Given the description of an element on the screen output the (x, y) to click on. 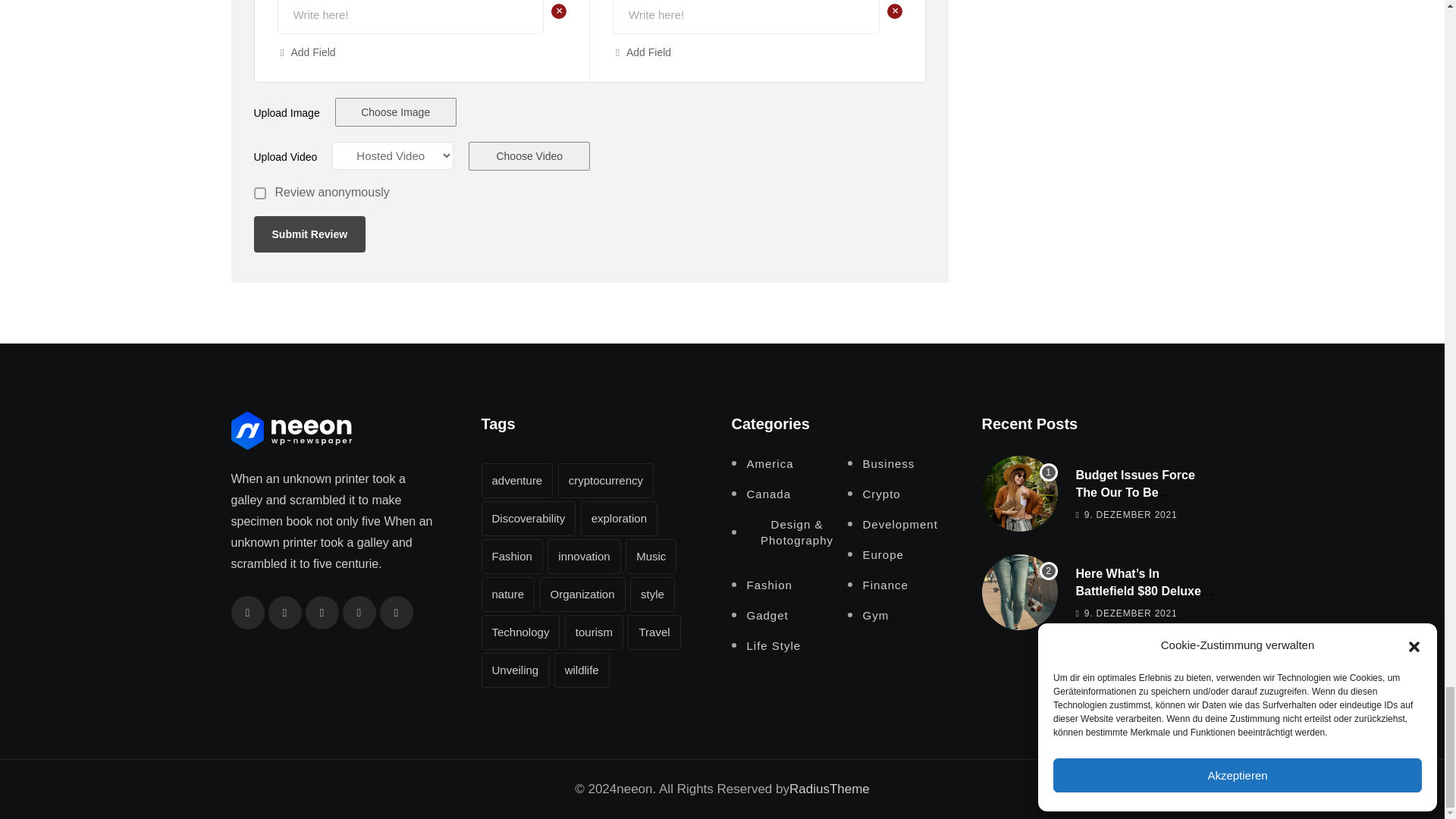
Submit Review (309, 234)
